Given the description of an element on the screen output the (x, y) to click on. 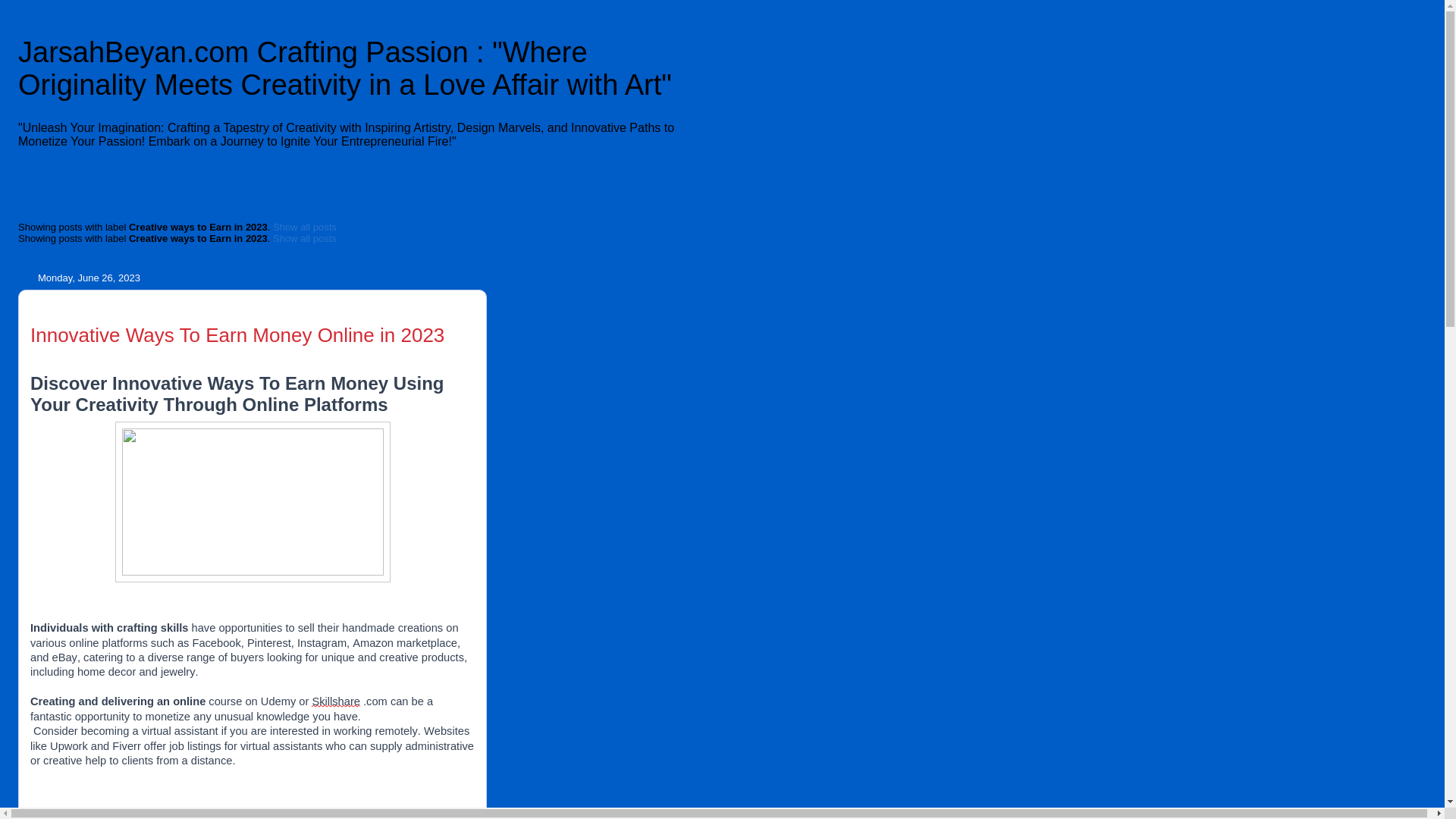
Innovative Ways To Earn Money Online in 2023 (237, 334)
Show all posts (304, 226)
Show all posts (304, 238)
